Given the description of an element on the screen output the (x, y) to click on. 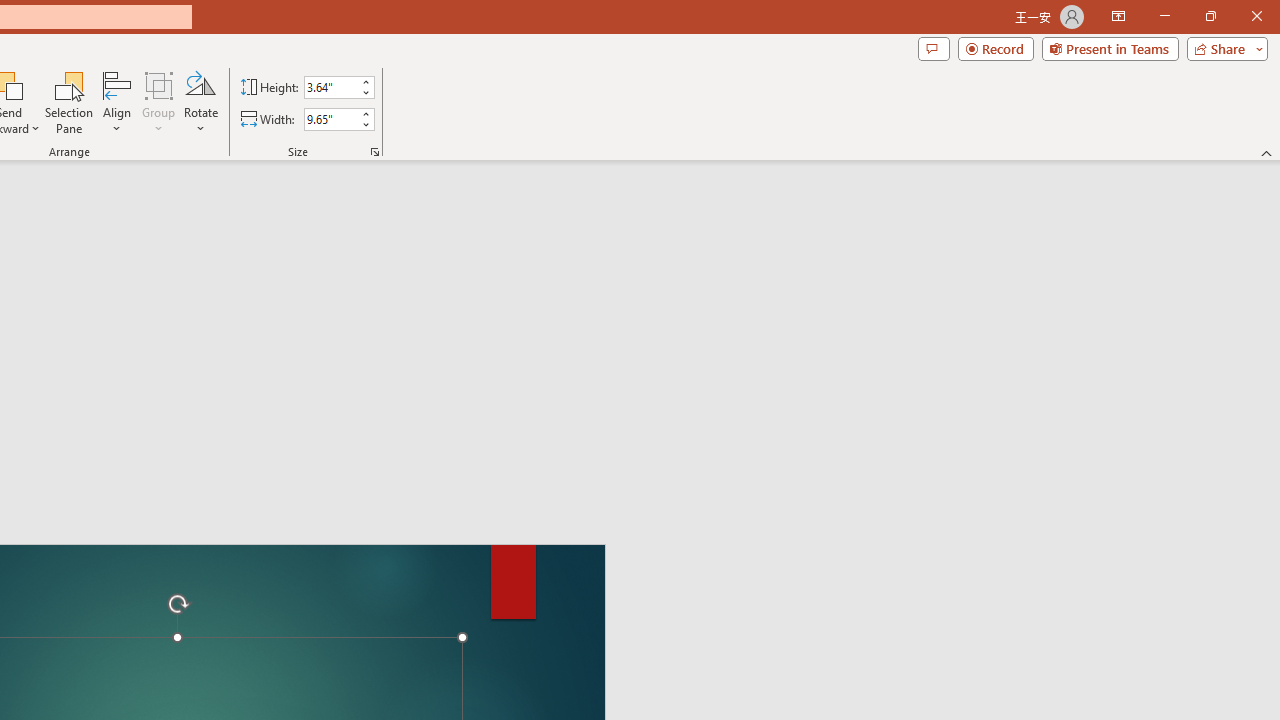
Shape Width (330, 119)
Rotate (200, 102)
